Given the description of an element on the screen output the (x, y) to click on. 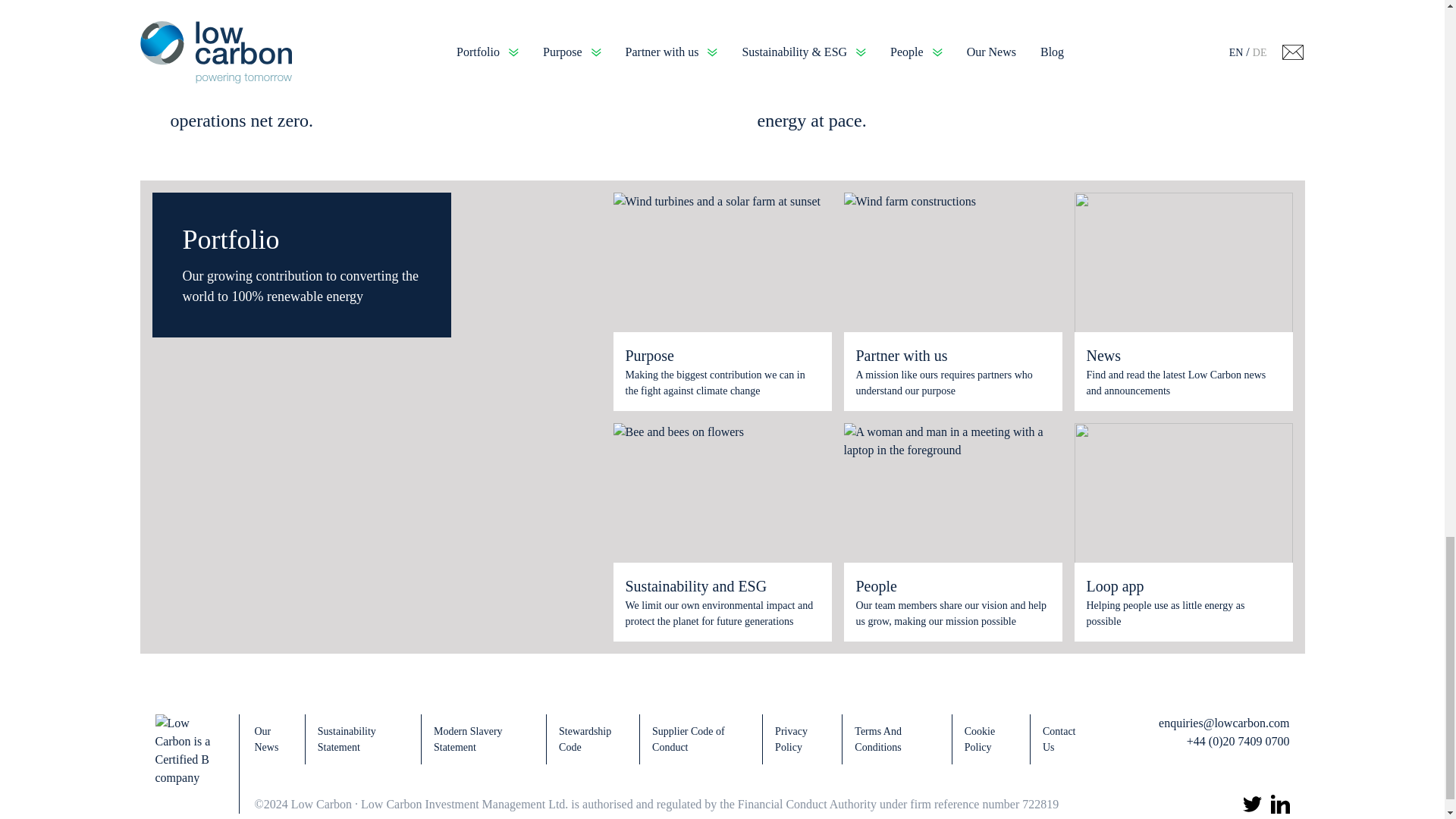
News (1182, 354)
Sustainability and ESG (721, 585)
Purpose (721, 354)
Partner with us (952, 354)
Find and read the latest Low Carbon news and announcements (1182, 382)
